Given the description of an element on the screen output the (x, y) to click on. 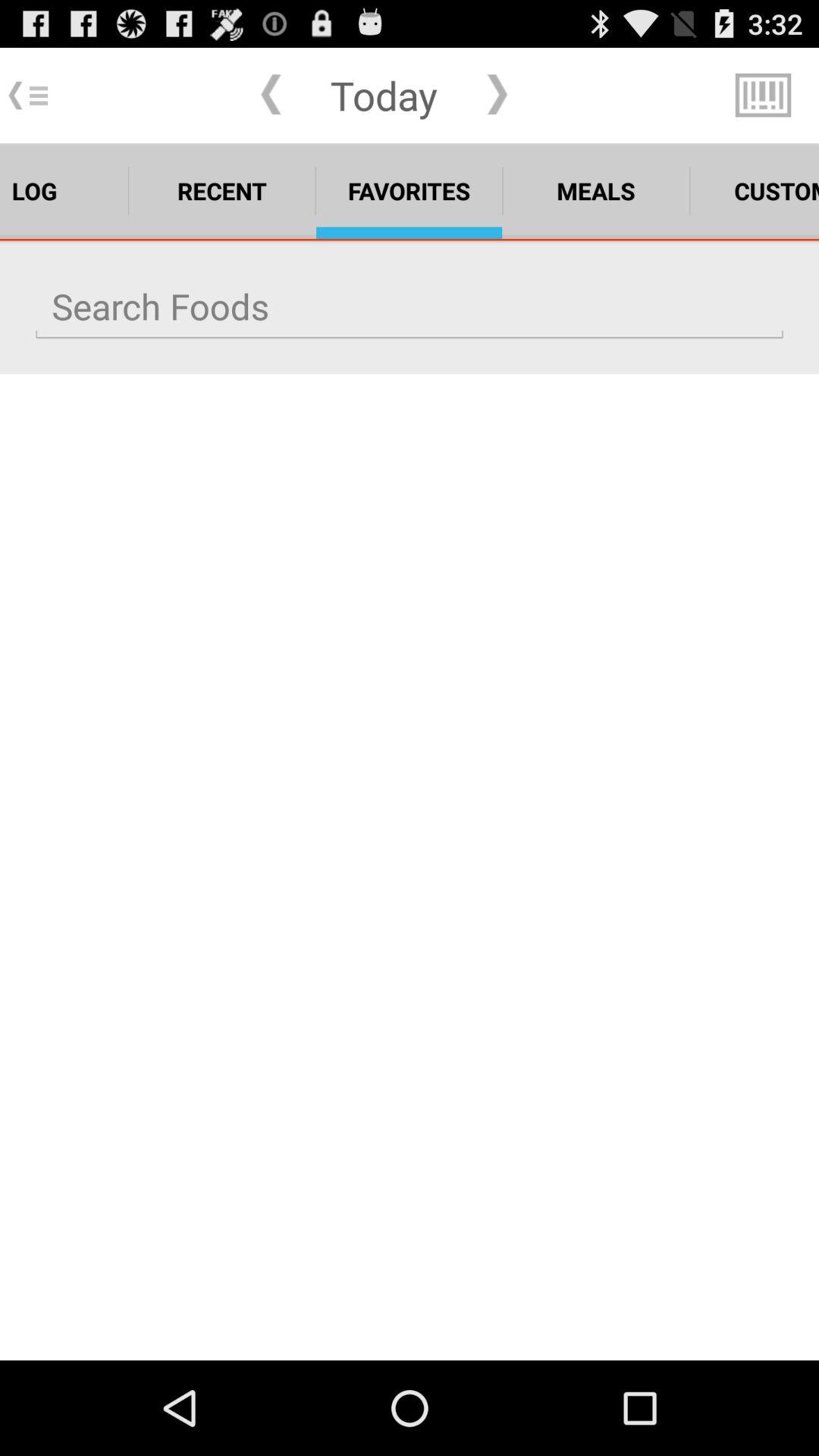
open the today item (383, 94)
